Given the description of an element on the screen output the (x, y) to click on. 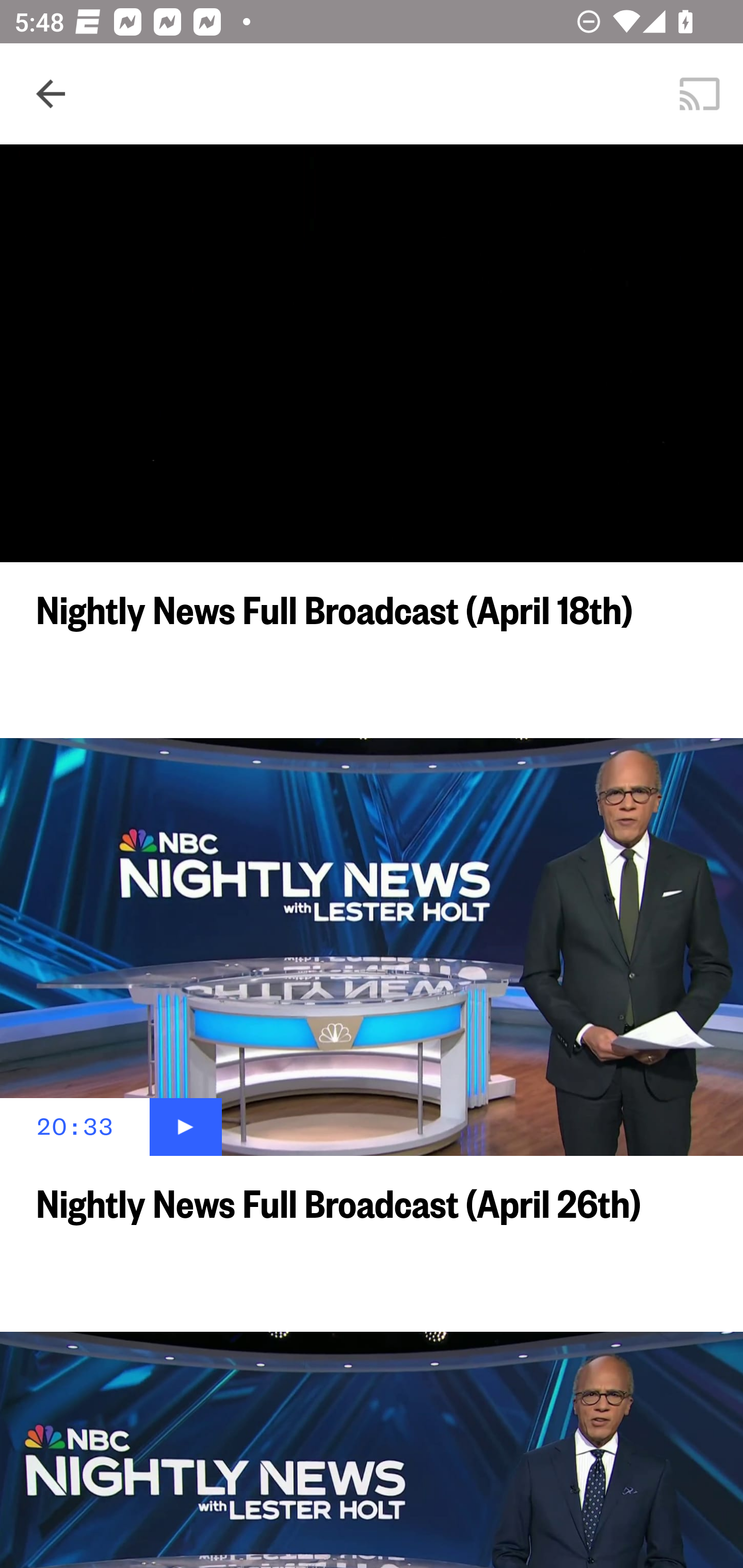
Navigate up (50, 93)
Cast. Disconnected (699, 93)
Video, Nightly News Full Broadcast (April 18th) (371, 353)
